Given the description of an element on the screen output the (x, y) to click on. 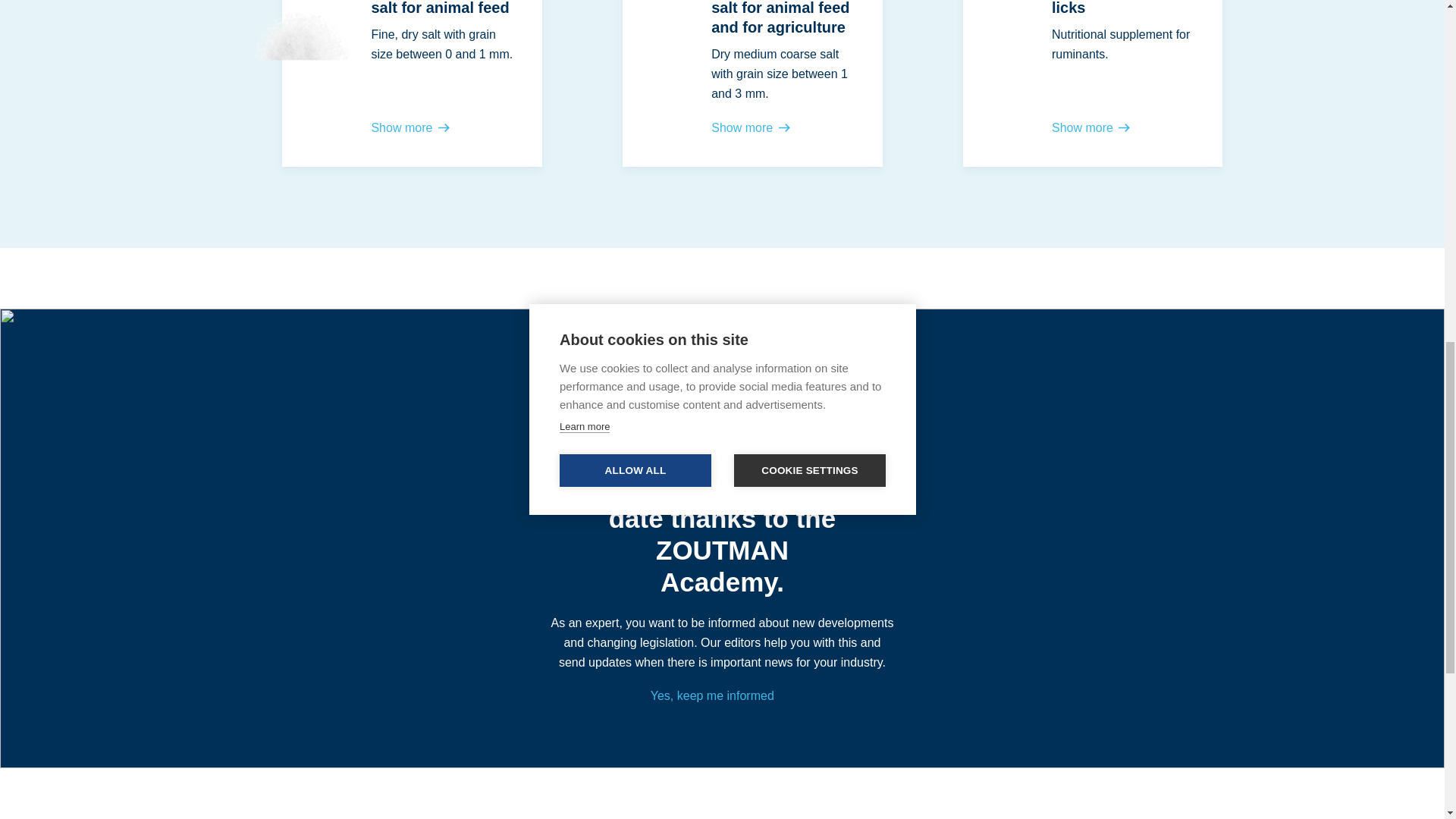
SALCO AGRO 0-1, salt for animal feed (381, 83)
SALCO AGRO 1-3, salt for animal feed and for agriculture (722, 83)
SALCO AGRO, salt licks (1062, 83)
